Given the description of an element on the screen output the (x, y) to click on. 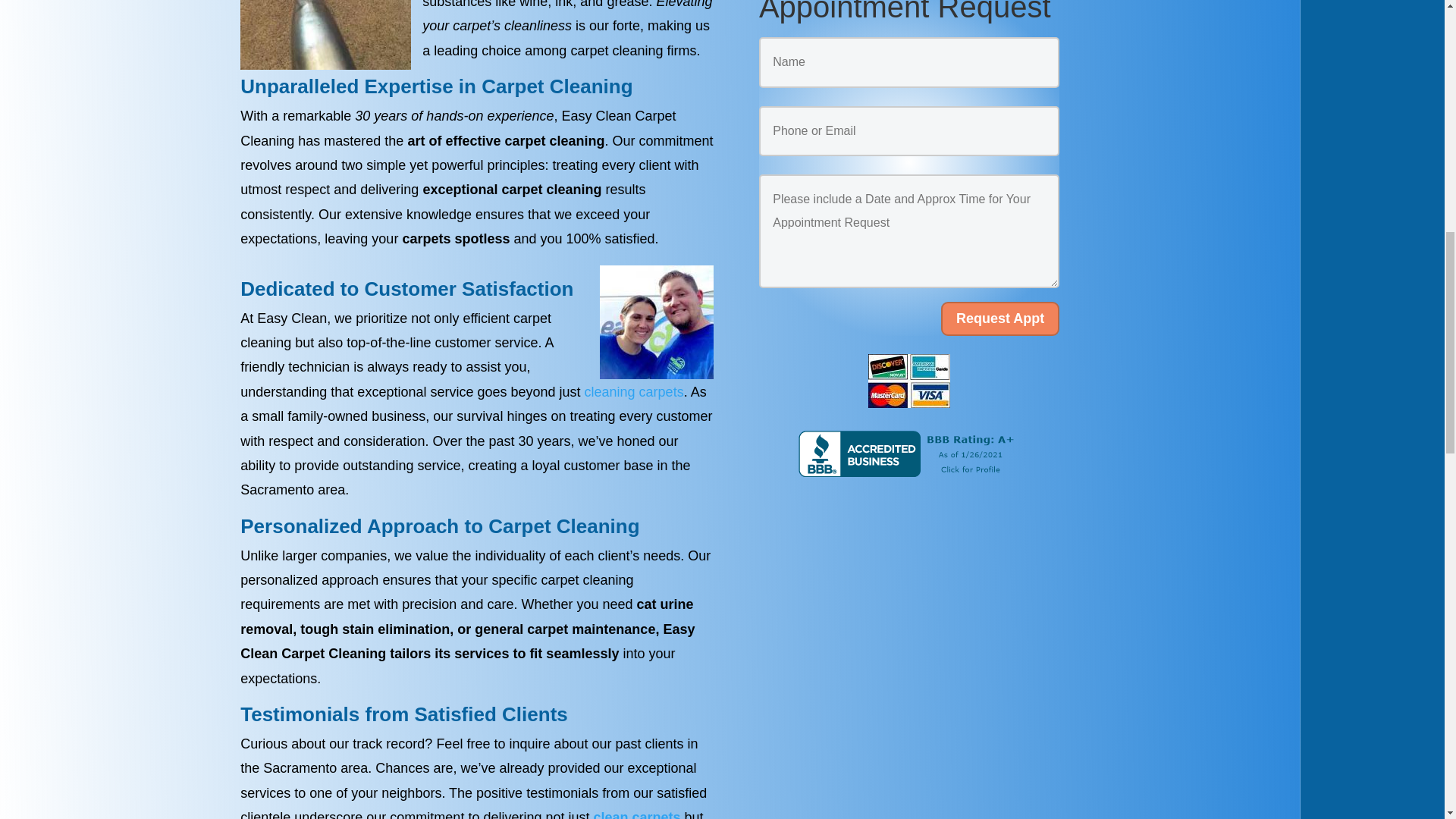
Only letters and numbers allowed. (908, 61)
